Given the description of an element on the screen output the (x, y) to click on. 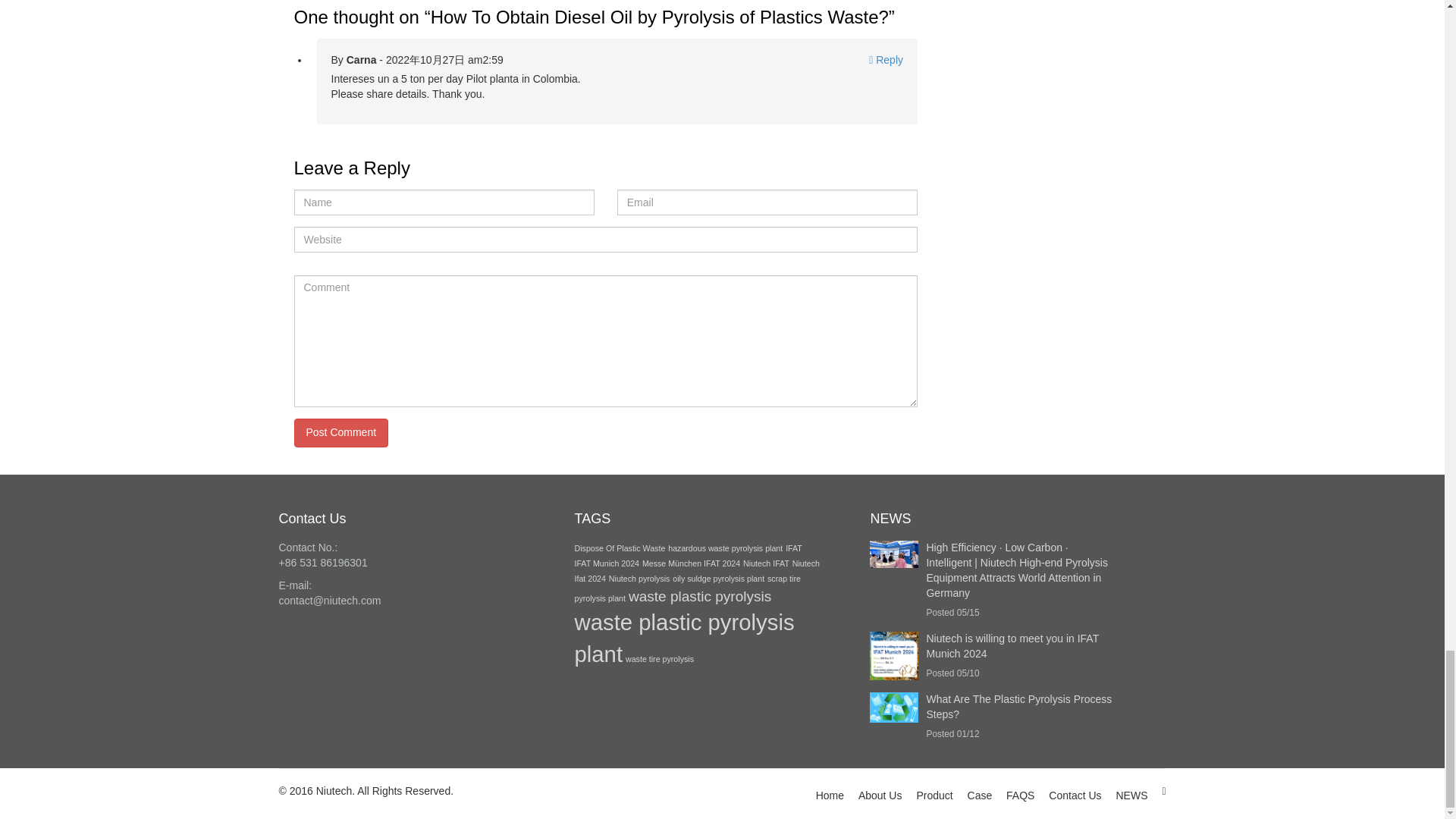
Niutech (333, 790)
Post Comment (341, 432)
